Given the description of an element on the screen output the (x, y) to click on. 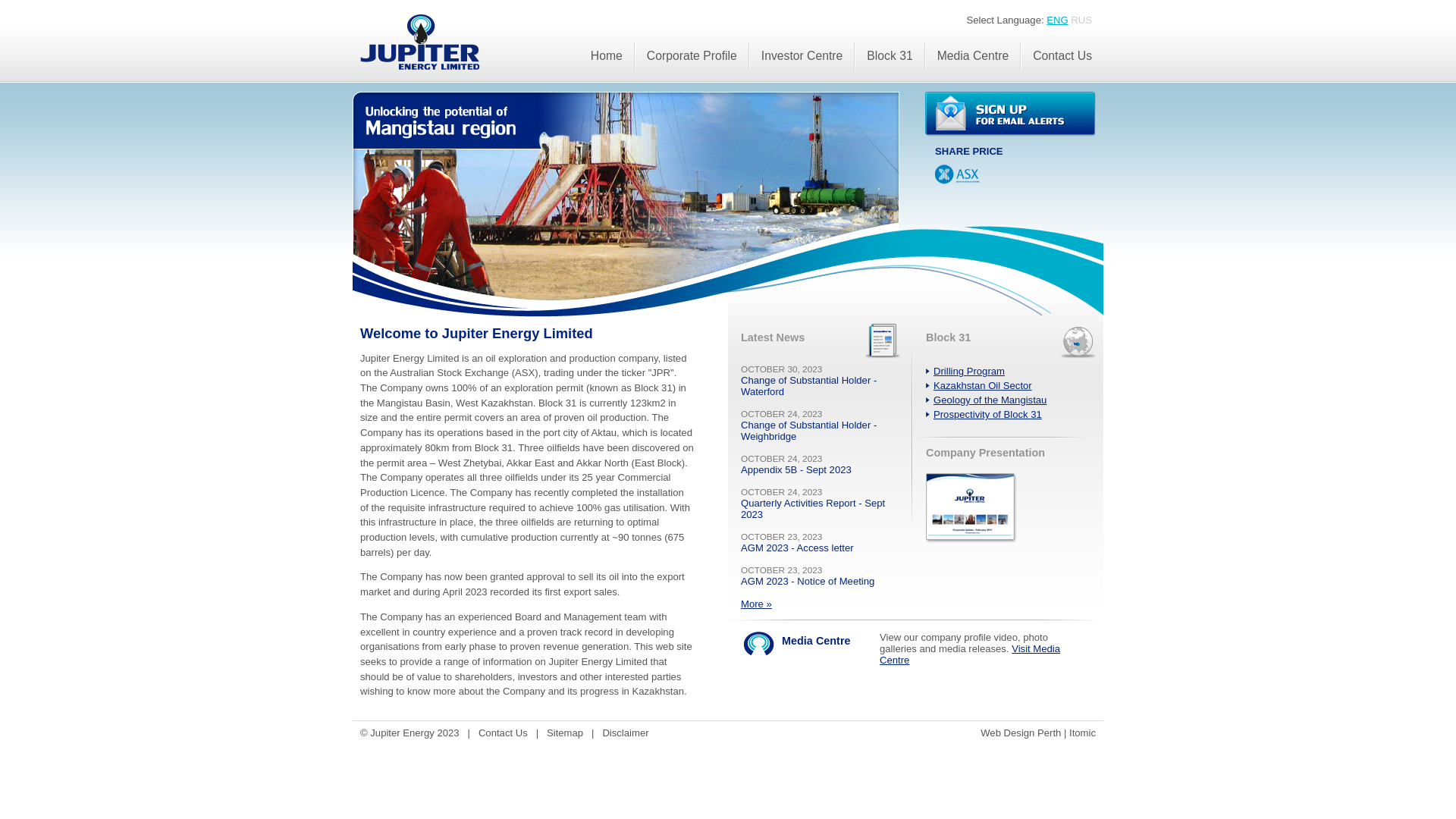
Media Centre Element type: text (972, 55)
Jupiter Energy Element type: hover (625, 195)
Corporate Profile Element type: text (691, 55)
Visit Media Centre Element type: text (969, 654)
Contact Us Element type: text (1061, 55)
Contact Us Element type: text (502, 732)
Quarterly Activities Report - Sept 2023 Element type: text (812, 508)
Investor Centre Element type: text (802, 55)
Change of Substantial Holder - Waterford Element type: text (808, 385)
Change of Substantial Holder - Weighbridge Element type: text (808, 430)
AGM 2023 - Notice of Meeting Element type: text (807, 580)
Geology of the Mangistau Element type: text (989, 399)
Sign up for Email Alerts Element type: text (1010, 113)
Prospectivity of Block 31 Element type: text (987, 414)
Kazakhstan Oil Sector Element type: text (982, 385)
Appendix 5B - Sept 2023 Element type: text (795, 469)
Home Element type: text (606, 55)
Block 31 Element type: text (889, 55)
Jupiter Energy Element type: hover (420, 41)
Drilling Program Element type: text (968, 370)
Sitemap Element type: text (564, 732)
Disclaimer Element type: text (625, 732)
ENG Element type: text (1056, 19)
Company Presentation Element type: hover (970, 539)
AGM 2023 - Access letter Element type: text (796, 547)
Web Design Perth | Itomic Element type: text (1037, 732)
RUS Element type: text (1081, 19)
Company Presentation Element type: hover (970, 507)
